Given the description of an element on the screen output the (x, y) to click on. 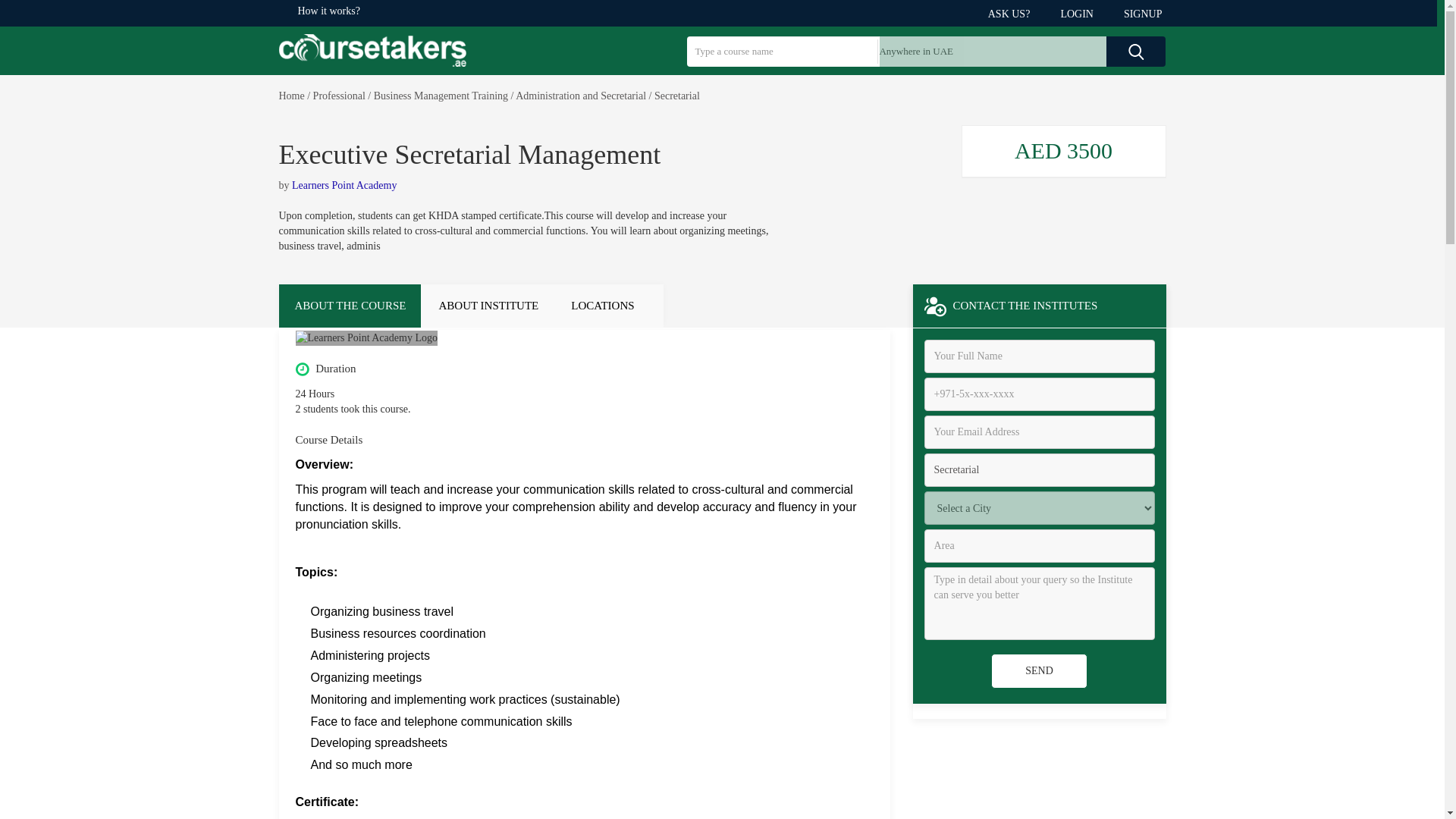
LOGIN (1080, 14)
Home (291, 95)
ABOUT INSTITUTE (487, 305)
Administration and Secretarial (580, 95)
Secretarial (676, 95)
How it works? (328, 10)
Professional (339, 95)
Secretarial (1039, 469)
Send (1039, 670)
SIGNUP (1136, 14)
LOCATIONS (608, 305)
Learners Point Academy (344, 184)
Send (1039, 670)
ASK US? (1012, 14)
Business Management Training (441, 95)
